Given the description of an element on the screen output the (x, y) to click on. 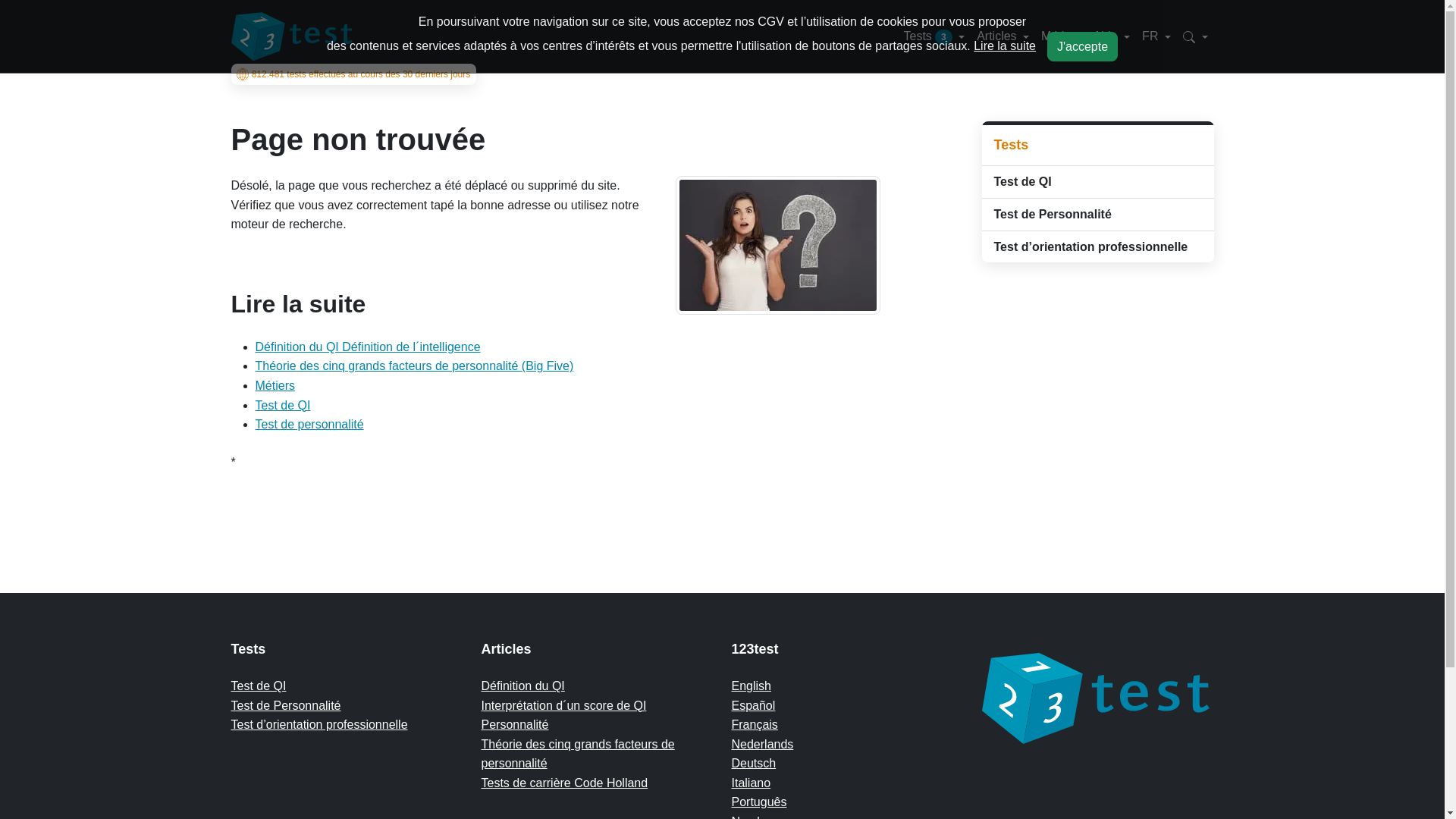
Test de QI Element type: text (257, 685)
Italiano Element type: text (750, 782)
English Element type: text (750, 685)
Nederlands Element type: text (762, 743)
Test de QI Element type: text (282, 404)
FR Element type: text (1155, 36)
Aide Element type: text (1111, 36)
Articles Element type: text (1002, 36)
Deutsch Element type: text (753, 762)
J'accepte Element type: text (1082, 46)
Lire la suite Element type: text (1004, 45)
Test de QI Element type: text (1097, 181)
Tests 3 Element type: text (934, 36)
